Given the description of an element on the screen output the (x, y) to click on. 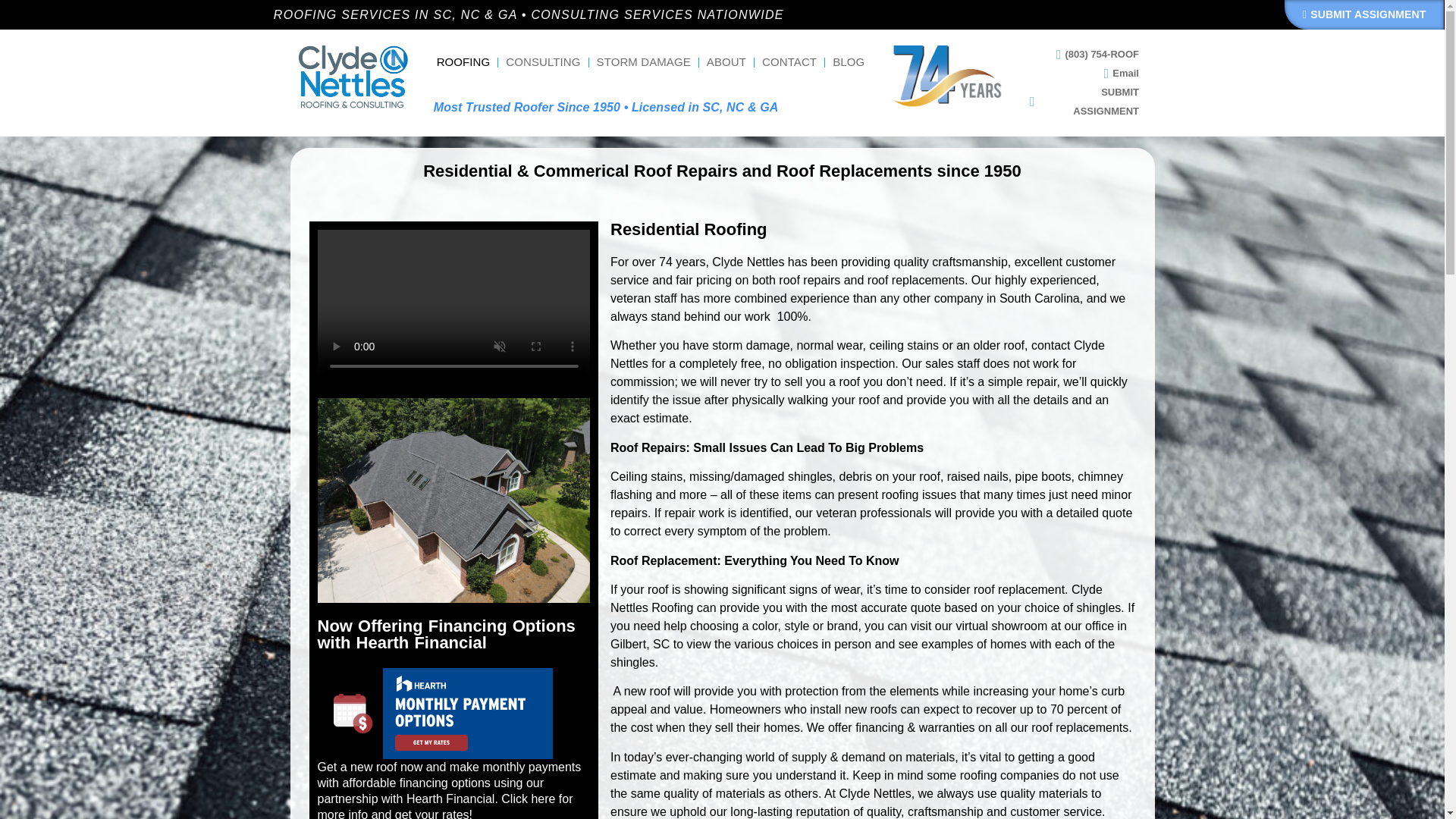
STORM DAMAGE (643, 62)
Email (1115, 72)
CONSULTING (542, 62)
ABOUT (726, 62)
BLOG (848, 62)
SUBMIT ASSIGNMENT (1364, 14)
CONTACT (789, 62)
SUBMIT ASSIGNMENT (1077, 101)
ROOFING (463, 62)
